Given the description of an element on the screen output the (x, y) to click on. 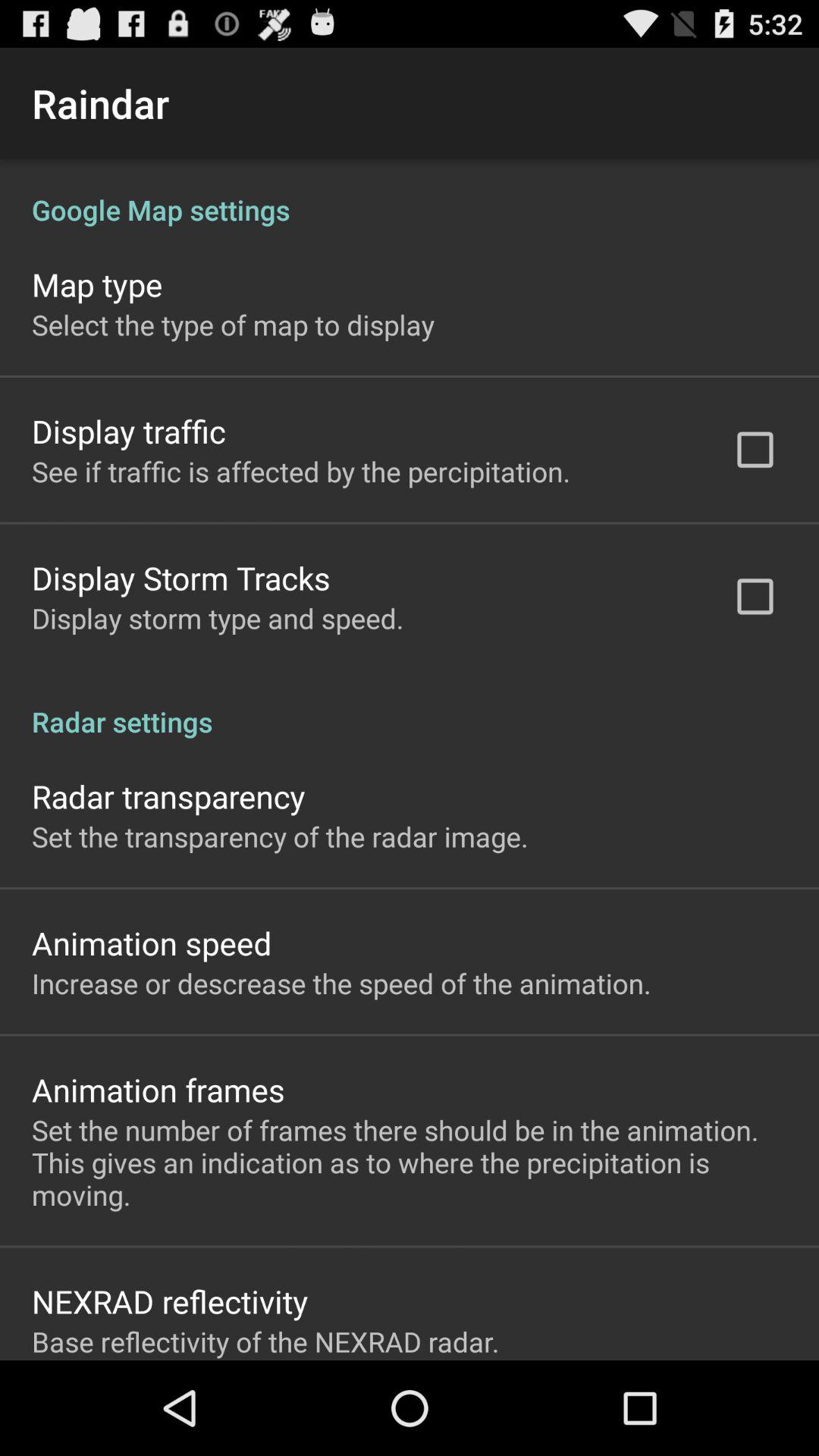
turn on increase or descrease item (341, 983)
